Given the description of an element on the screen output the (x, y) to click on. 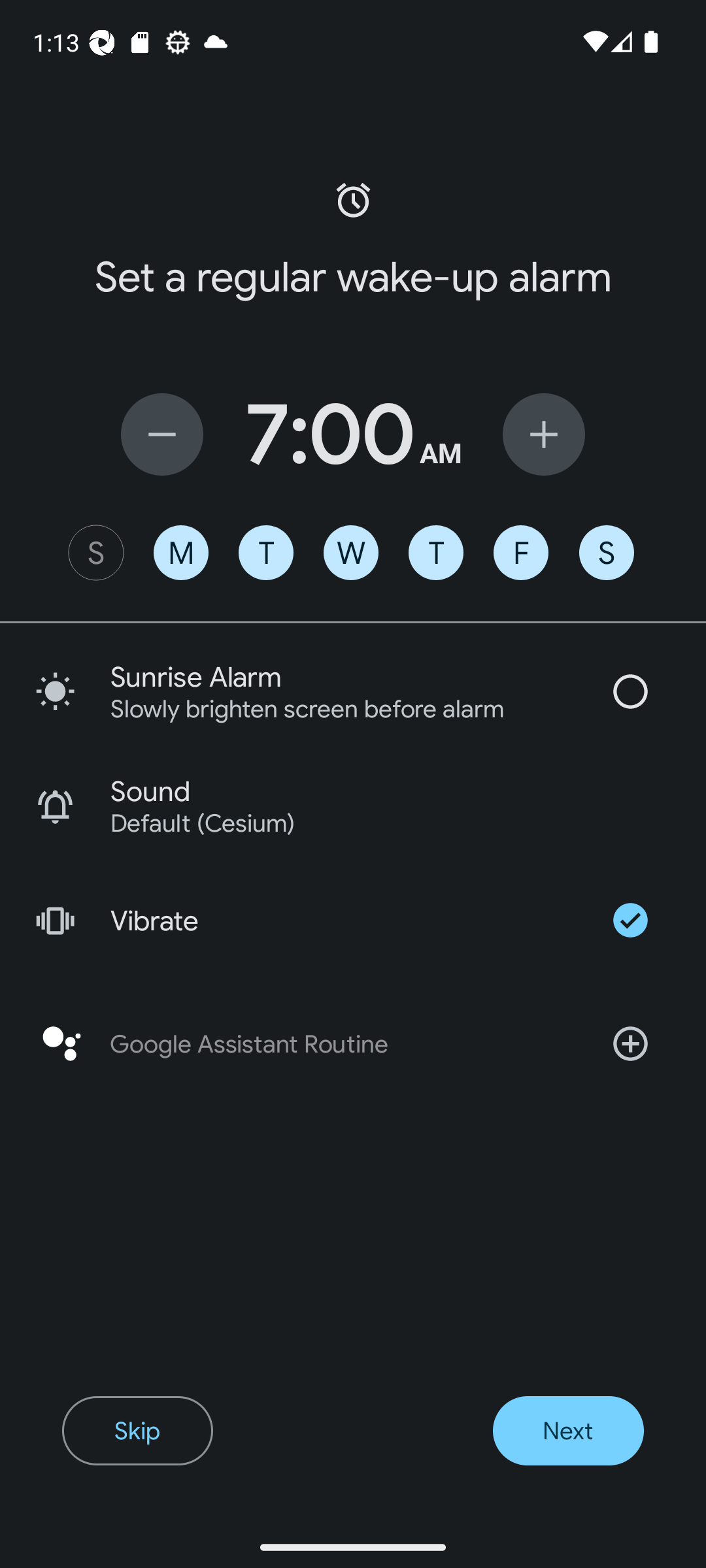
7:00 AM Wake-up 7:00 AM (352, 434)
Fifteen minutes earlier (161, 434)
Fifteen minutes later (543, 434)
S Sunday (95, 552)
M Monday (180, 552)
T Tuesday (266, 552)
W Wednesday (350, 552)
T Thursday (435, 552)
F Friday (520, 552)
S Saturday (606, 552)
Sunrise Alarm Slowly brighten screen before alarm (353, 691)
Sound Default (Cesium) Ringtone Default (Cesium) (353, 805)
Vibrate (353, 920)
Google Assistant Routine (353, 1044)
Skip (137, 1430)
Next (567, 1430)
